Given the description of an element on the screen output the (x, y) to click on. 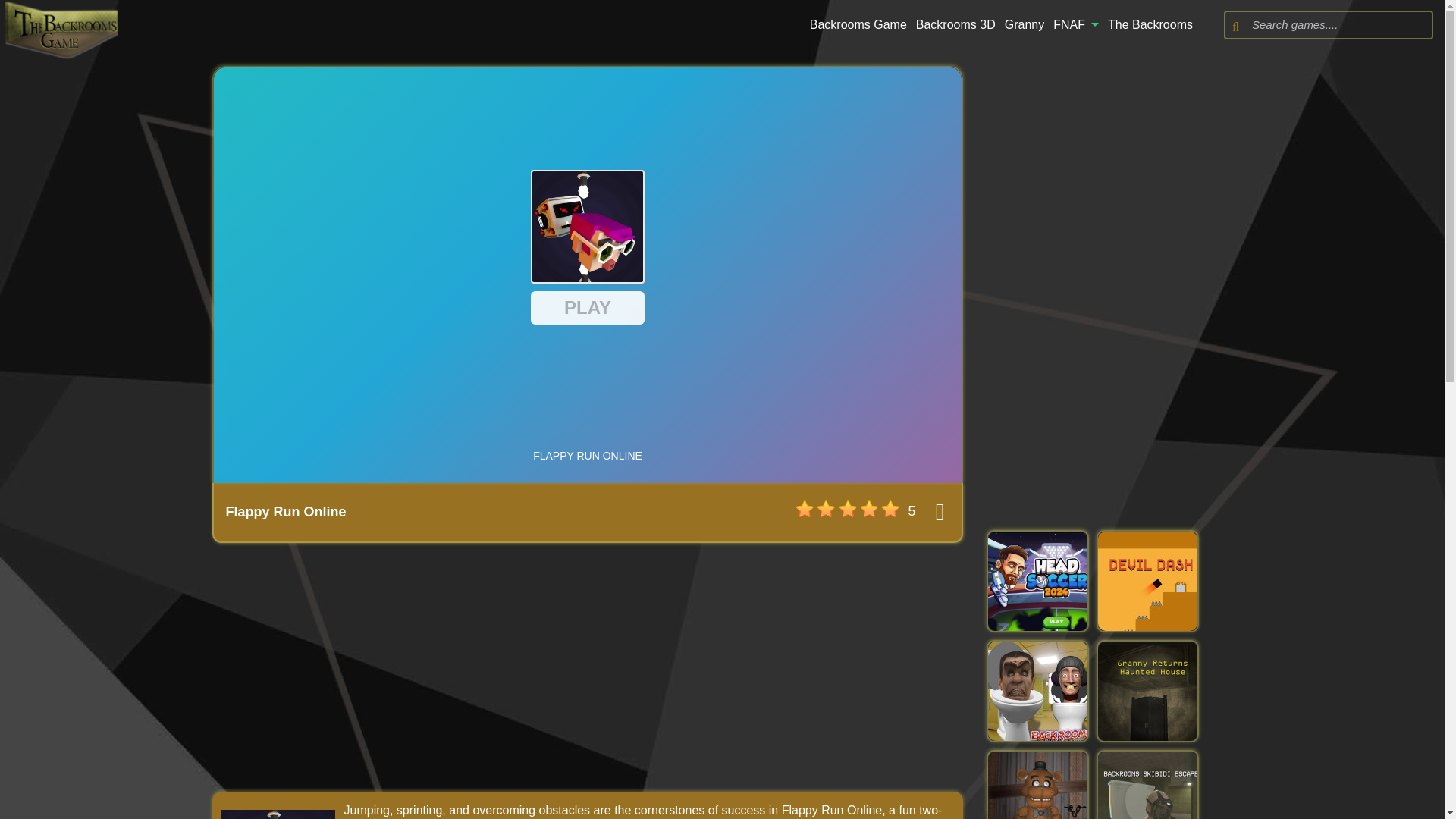
The Backrooms (1150, 25)
gorgeous (890, 509)
Backrooms 3D (955, 25)
Backrooms 3D (955, 25)
Granny (1023, 25)
Granny (1023, 25)
Backrooms Game (858, 25)
good (869, 509)
poor (825, 509)
Backrooms Game (858, 25)
regular (848, 509)
Go fullscreen (939, 511)
FNAF (1075, 25)
bad (804, 509)
The Backrooms (1150, 25)
